Given the description of an element on the screen output the (x, y) to click on. 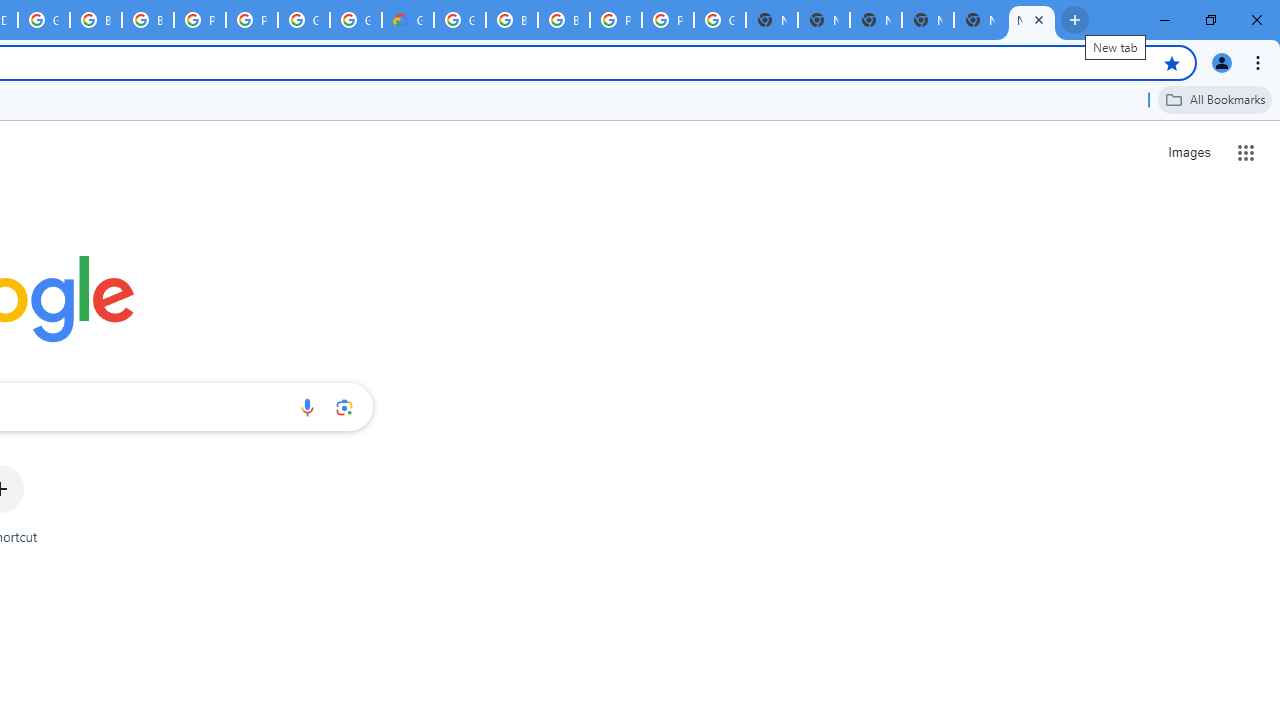
Google Cloud Platform (459, 20)
New Tab (1032, 20)
Google Cloud Platform (303, 20)
Google Cloud Estimate Summary (407, 20)
Browse Chrome as a guest - Computer - Google Chrome Help (563, 20)
Search for Images  (1188, 152)
All Bookmarks (1215, 99)
New Tab (823, 20)
